Given the description of an element on the screen output the (x, y) to click on. 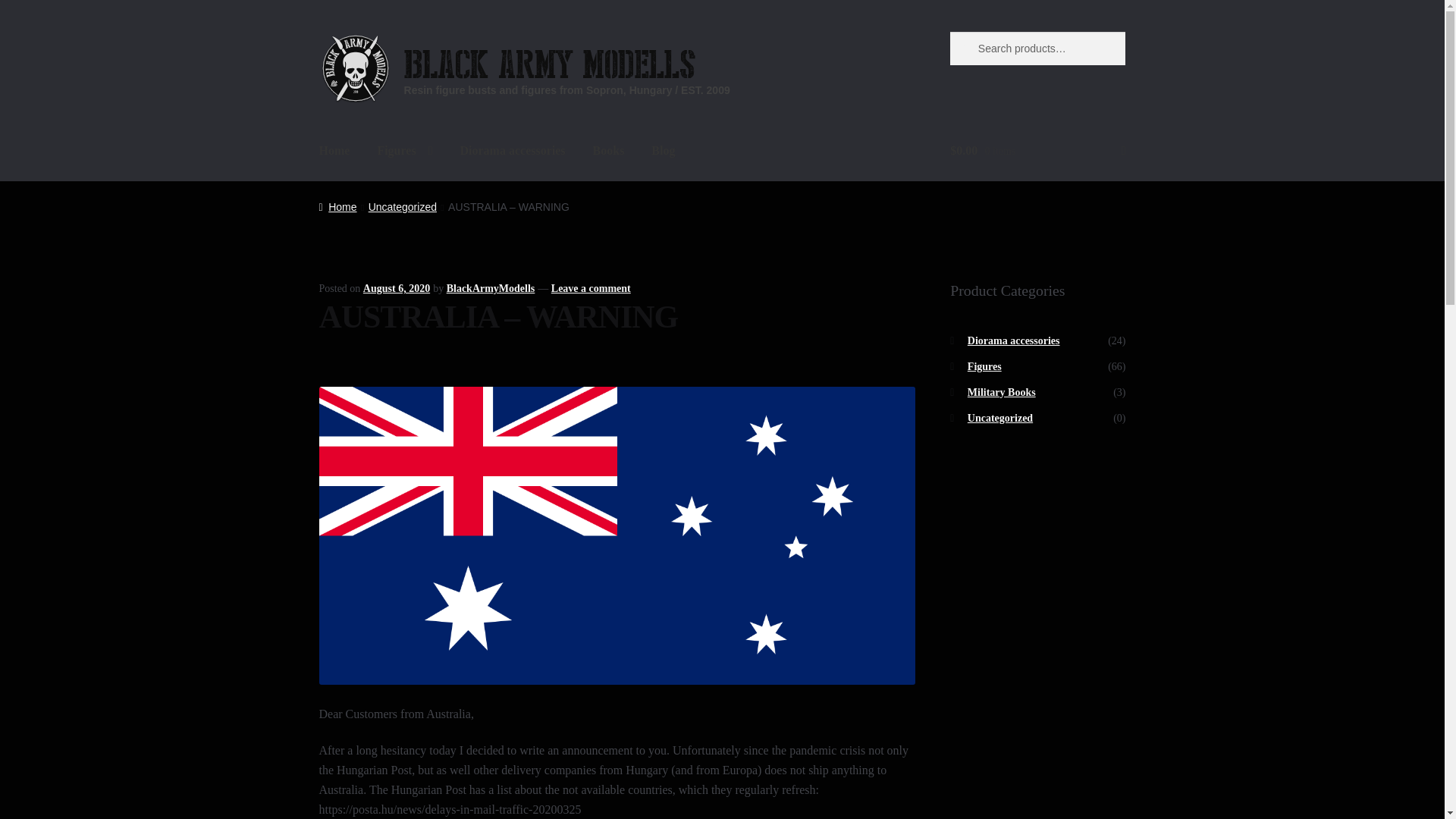
Uncategorized (402, 206)
Home (337, 206)
Books (608, 151)
View your shopping cart (1037, 151)
August 6, 2020 (395, 288)
Figures (404, 151)
Home (334, 151)
BlackArmyModells (490, 288)
